Given the description of an element on the screen output the (x, y) to click on. 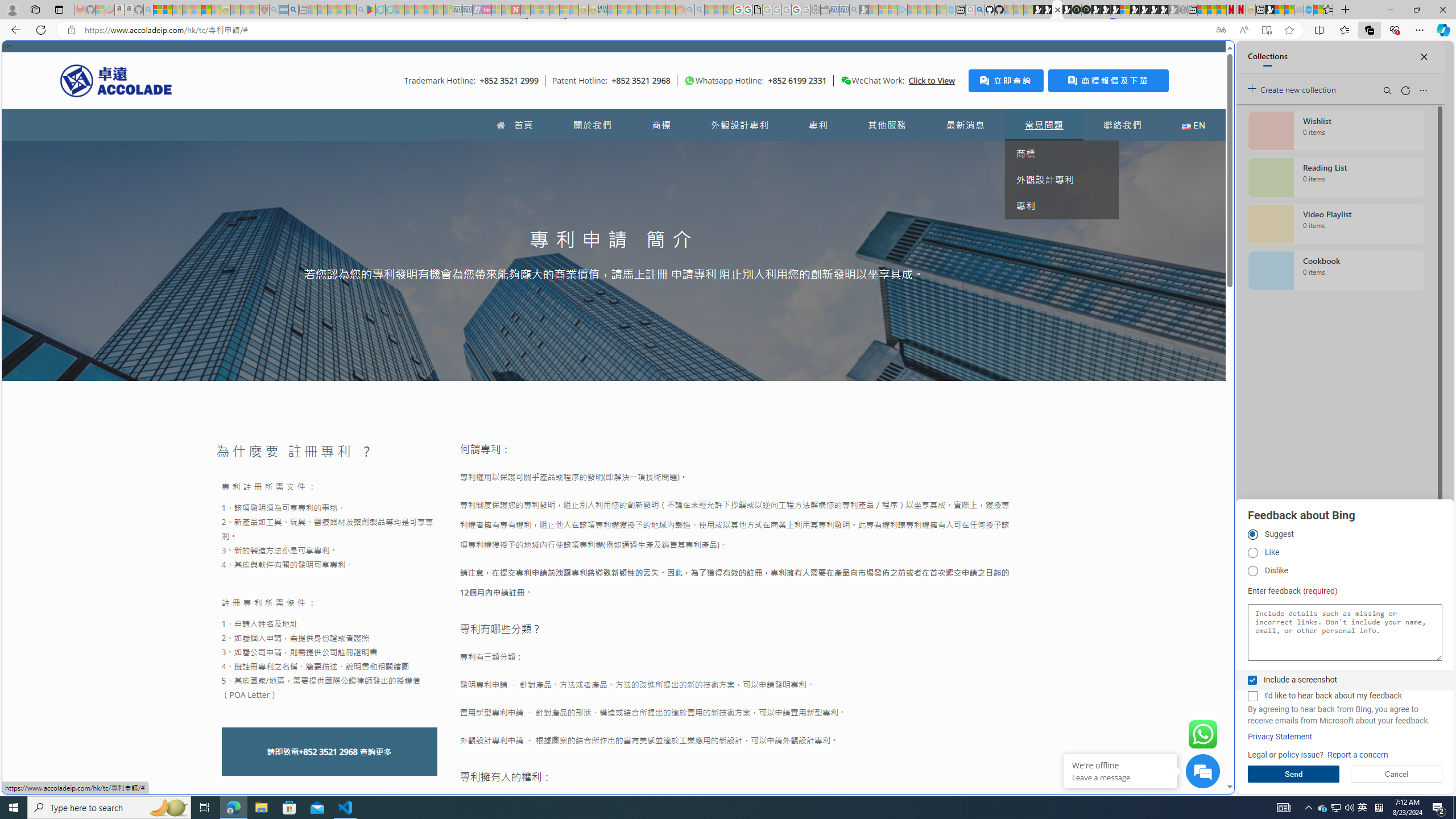
Earth has six continents not seven, radical new study claims (1288, 9)
Terms of Use Agreement - Sleeping (380, 9)
github - Search (979, 9)
google_privacy_policy_zh-CN.pdf (757, 9)
Tabs you've opened (885, 151)
